Given the description of an element on the screen output the (x, y) to click on. 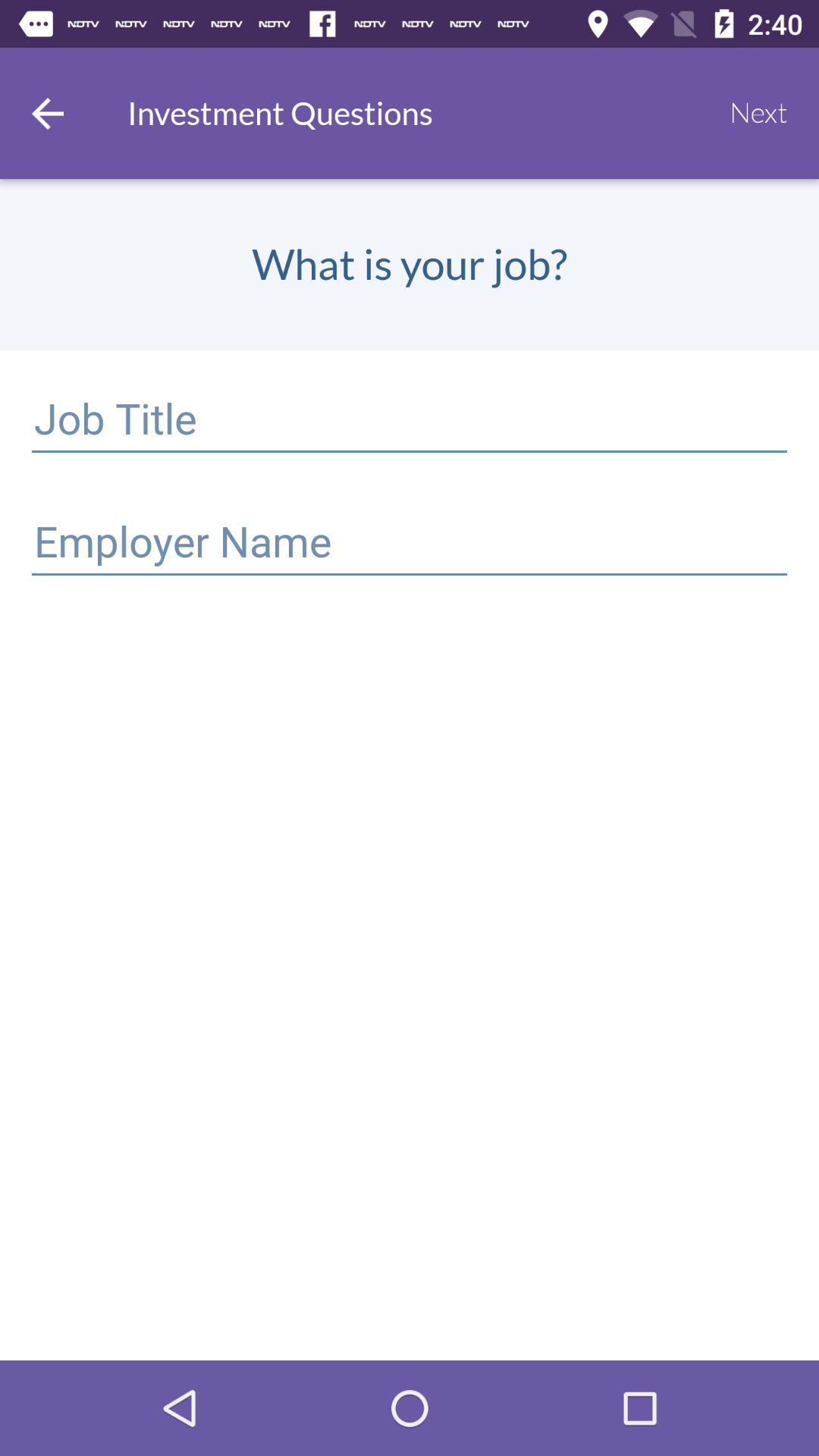
choose icon at the top right corner (758, 113)
